Given the description of an element on the screen output the (x, y) to click on. 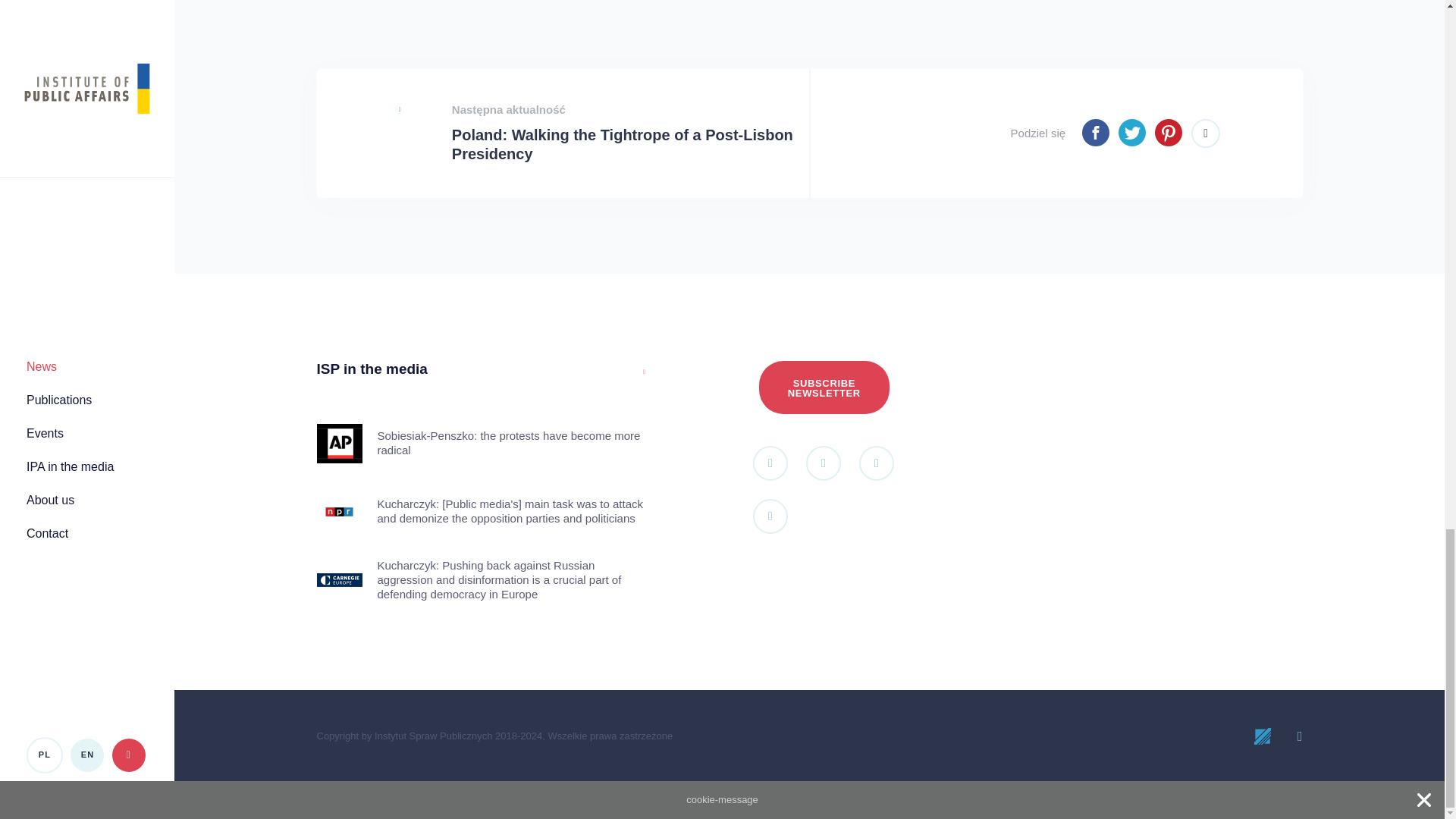
Team Solution (1263, 735)
